Given the description of an element on the screen output the (x, y) to click on. 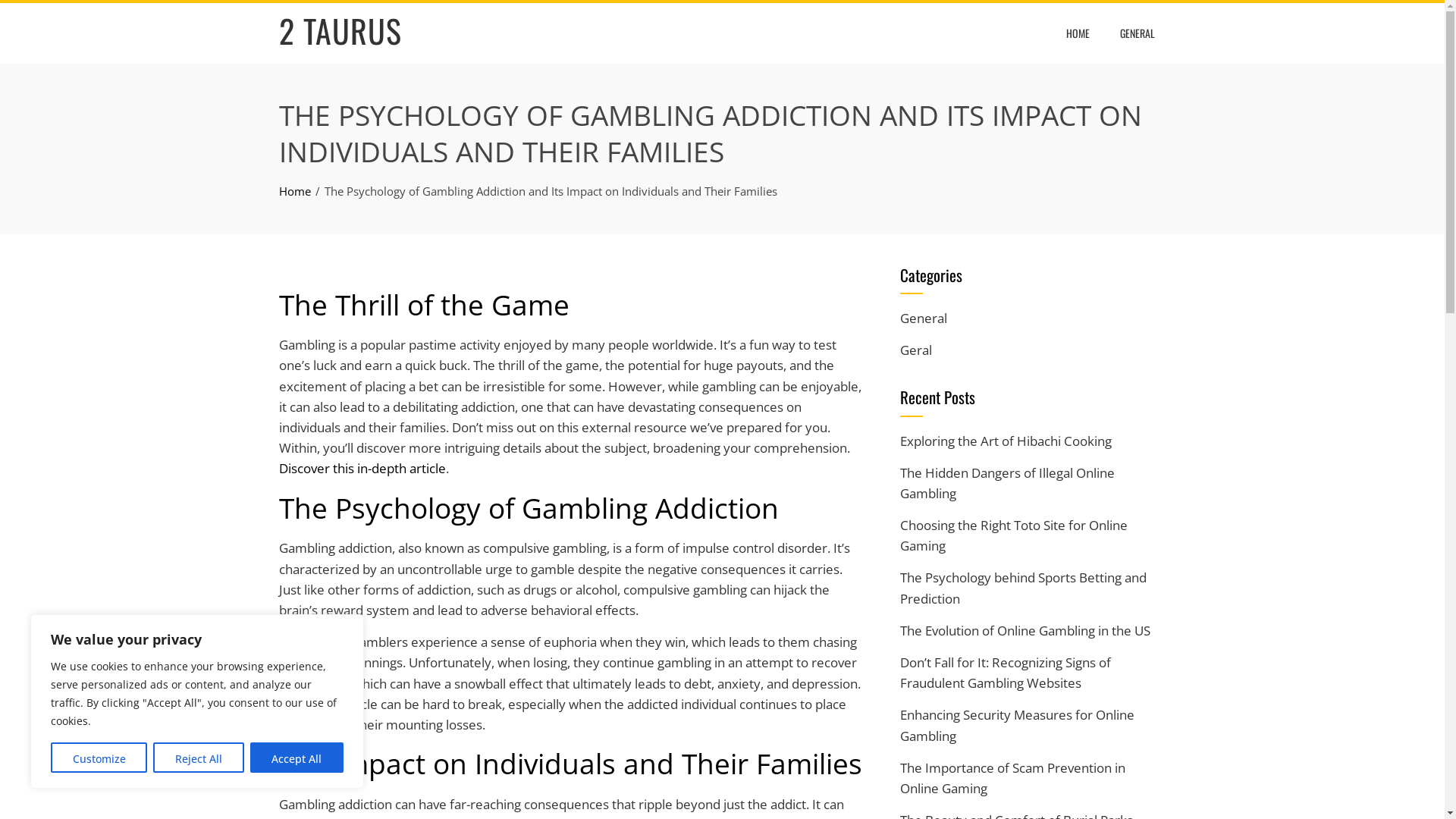
GENERAL Element type: text (1137, 33)
Customize Element type: text (98, 757)
The Psychology behind Sports Betting and Prediction Element type: text (1022, 587)
The Importance of Scam Prevention in Online Gaming Element type: text (1011, 778)
HOME Element type: text (1077, 33)
Geral Element type: text (915, 349)
Exploring the Art of Hibachi Cooking Element type: text (1004, 440)
The Evolution of Online Gambling in the US Element type: text (1024, 630)
General Element type: text (922, 317)
Enhancing Security Measures for Online Gambling Element type: text (1016, 724)
Reject All Element type: text (198, 757)
2 TAURUS Element type: text (340, 29)
Accept All Element type: text (296, 757)
Home Element type: text (294, 190)
Choosing the Right Toto Site for Online Gaming Element type: text (1012, 535)
Discover this in-depth article Element type: text (362, 467)
The Hidden Dangers of Illegal Online Gambling Element type: text (1006, 483)
